Given the description of an element on the screen output the (x, y) to click on. 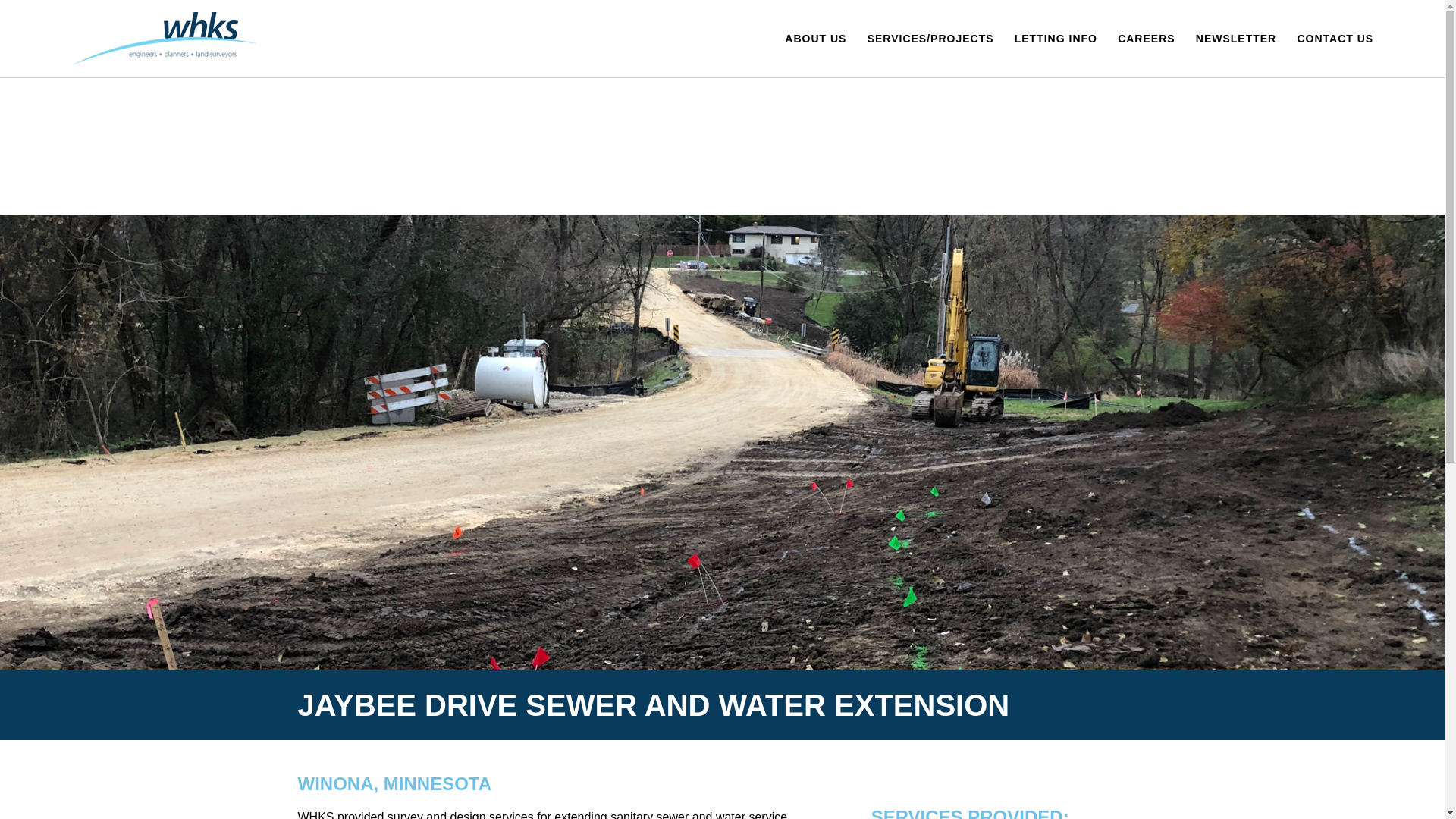
NEWSLETTER (1235, 38)
CONTACT US (1335, 38)
ABOUT US (814, 38)
LETTING INFO (1055, 38)
CAREERS (1146, 38)
